Given the description of an element on the screen output the (x, y) to click on. 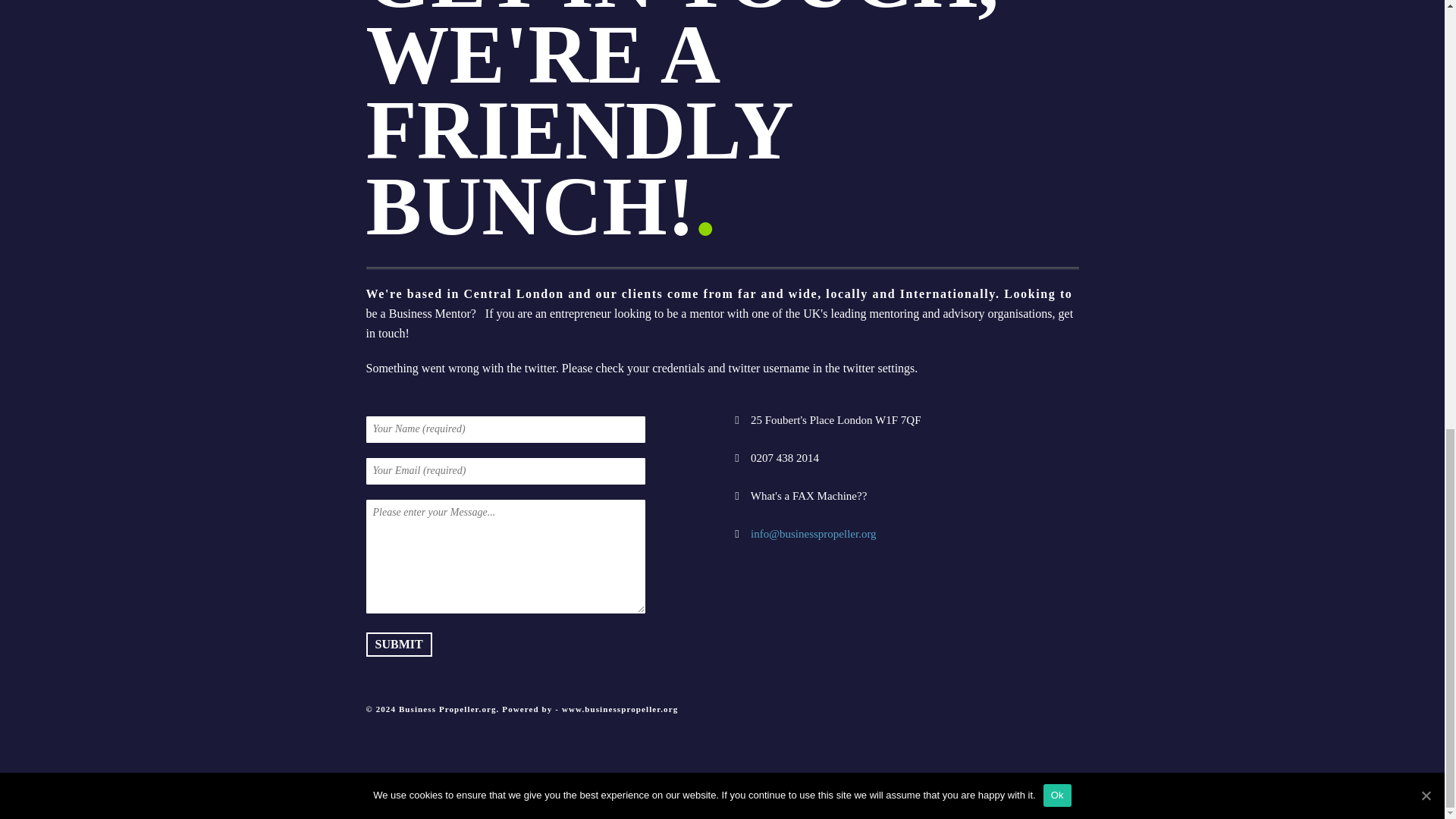
Submit (397, 644)
Submit (397, 644)
UltimatelySocial (834, 808)
